Given the description of an element on the screen output the (x, y) to click on. 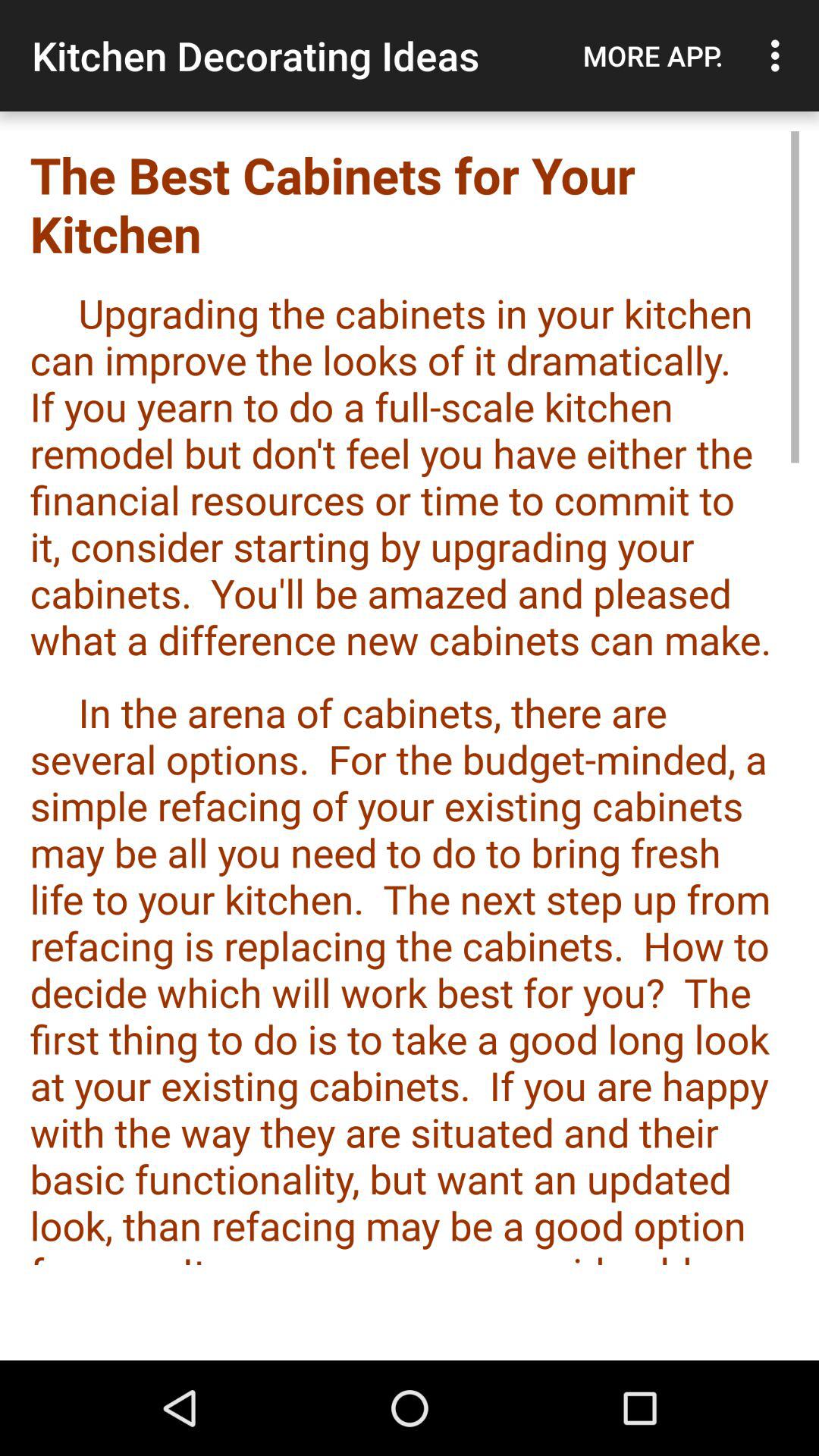
choose the app to the right of kitchen decorating ideas app (653, 55)
